Given the description of an element on the screen output the (x, y) to click on. 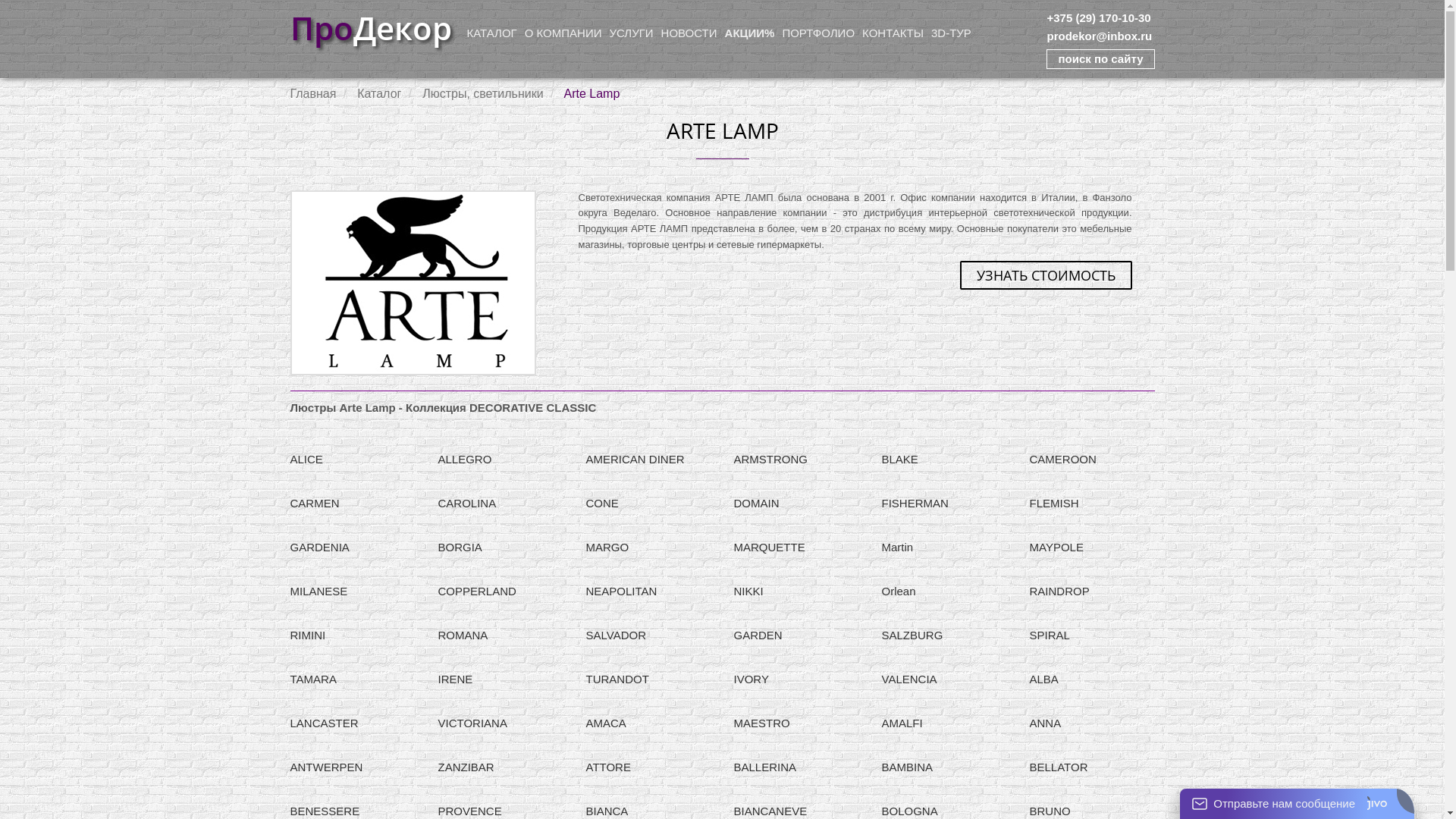
Arte Lamp Element type: hover (412, 282)
prodekor@inbox.ru Element type: text (1098, 35)
+375 (29) 170-10-30 Element type: text (1098, 17)
